Given the description of an element on the screen output the (x, y) to click on. 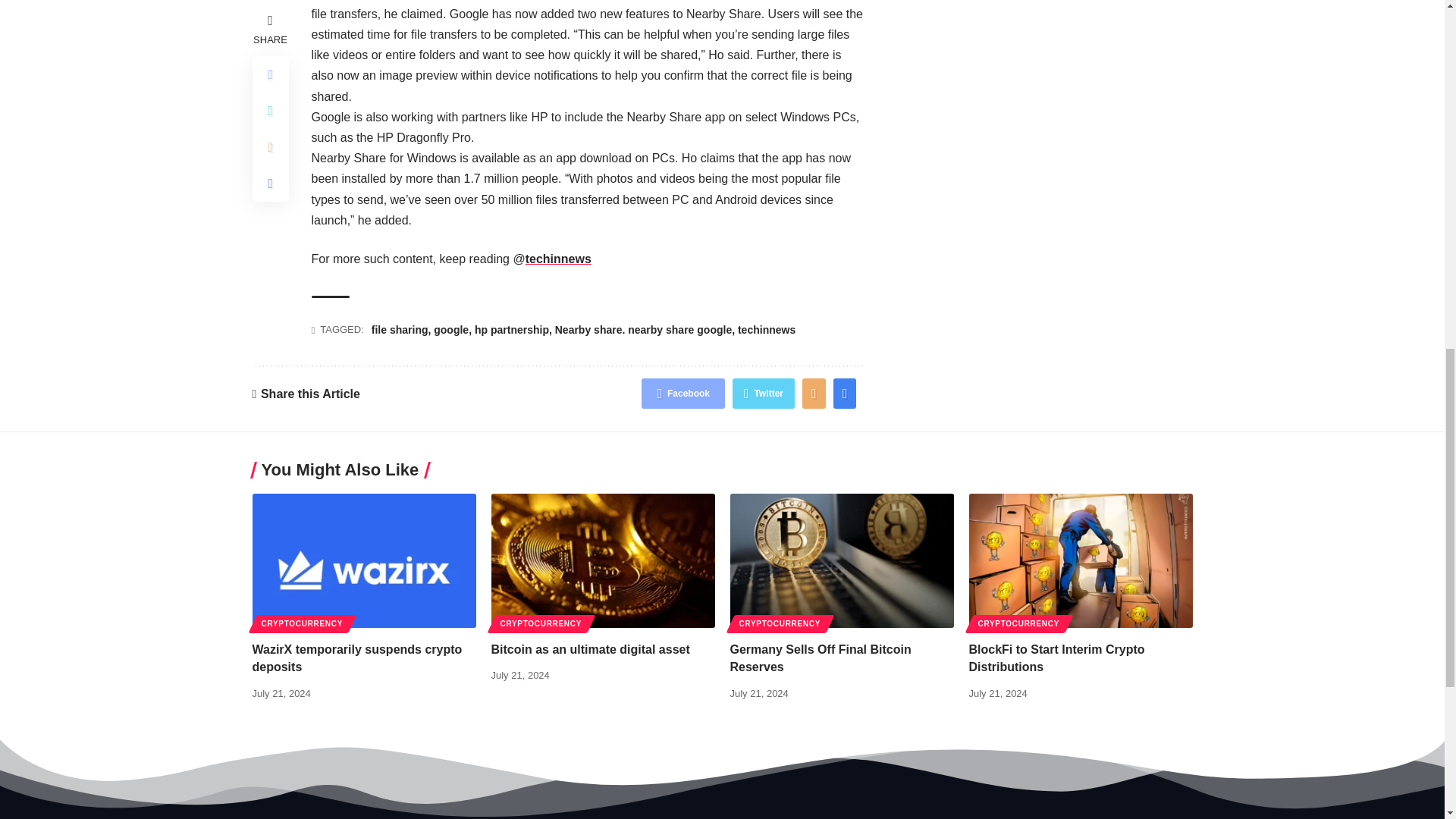
techinnews (558, 258)
Twitter (763, 393)
file sharing (399, 329)
Germany Sells Off Final Bitcoin Reserves (841, 560)
Bitcoin as an ultimate digital asset (603, 560)
Facebook (683, 393)
WazirX temporarily suspends crypto deposits (363, 560)
techinnews (766, 329)
google (450, 329)
Nearby share. nearby share google (643, 329)
BlockFi to Start Interim Crypto Distributions (1080, 560)
hp partnership (511, 329)
